Given the description of an element on the screen output the (x, y) to click on. 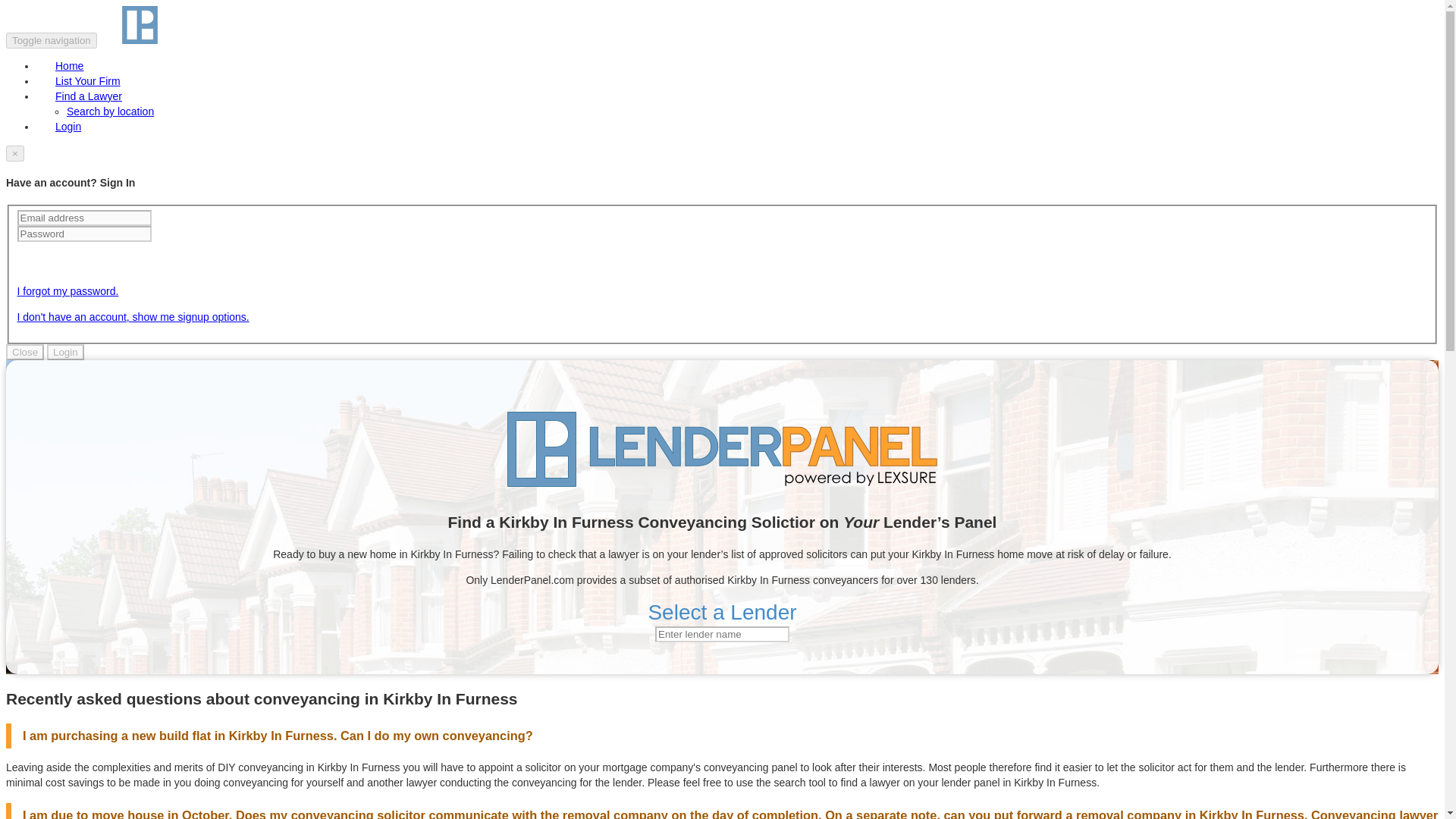
I forgot my password. (66, 291)
Close (24, 351)
Login (68, 126)
List Your Firm (87, 81)
Login (65, 351)
Find a Lawyer (88, 96)
Home (68, 65)
Toggle navigation (51, 40)
Search by location (110, 111)
I don't have an account, show me signup options. (132, 316)
